Given the description of an element on the screen output the (x, y) to click on. 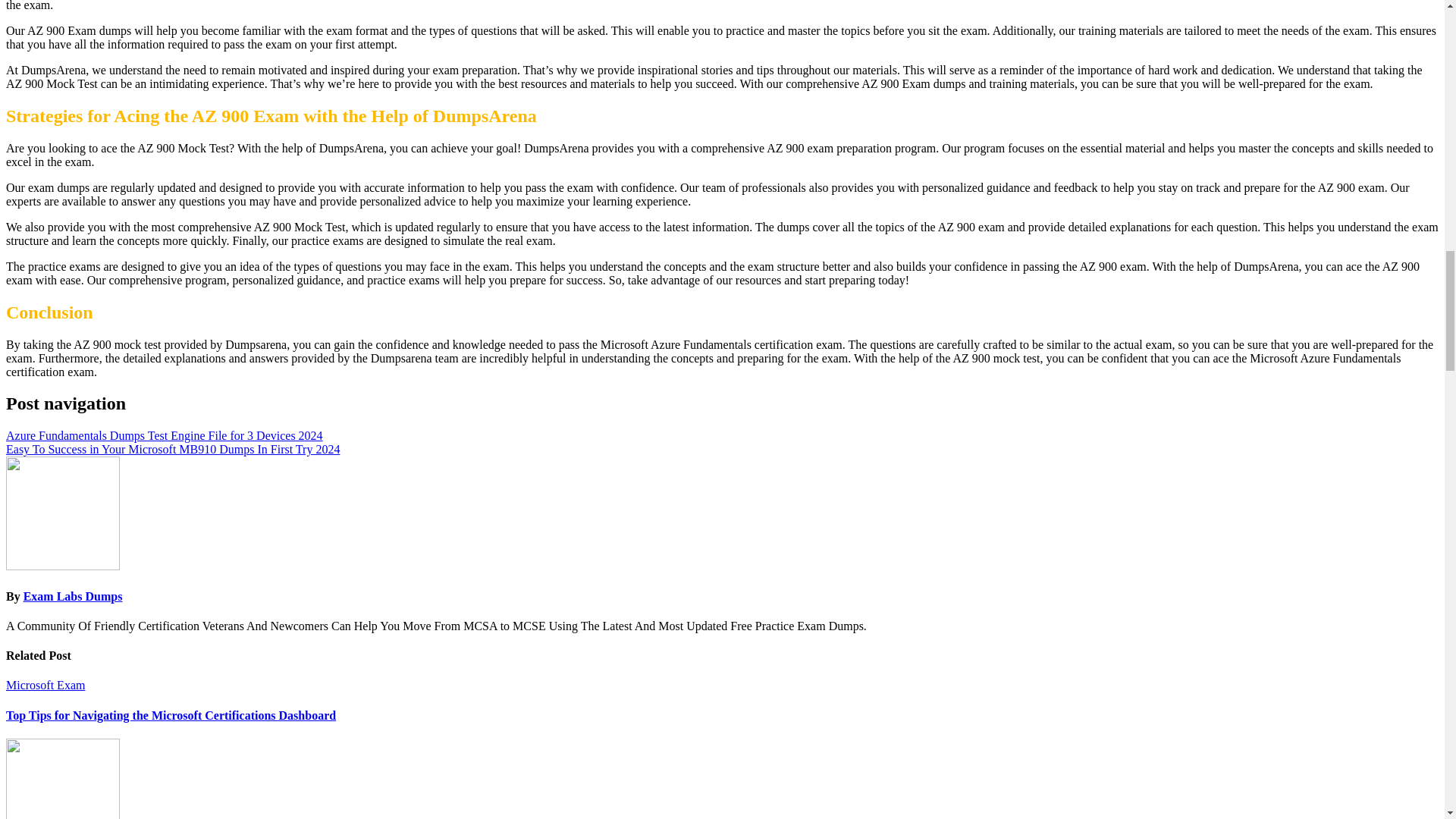
Microsoft Exam (44, 684)
Exam Labs Dumps (72, 595)
